Given the description of an element on the screen output the (x, y) to click on. 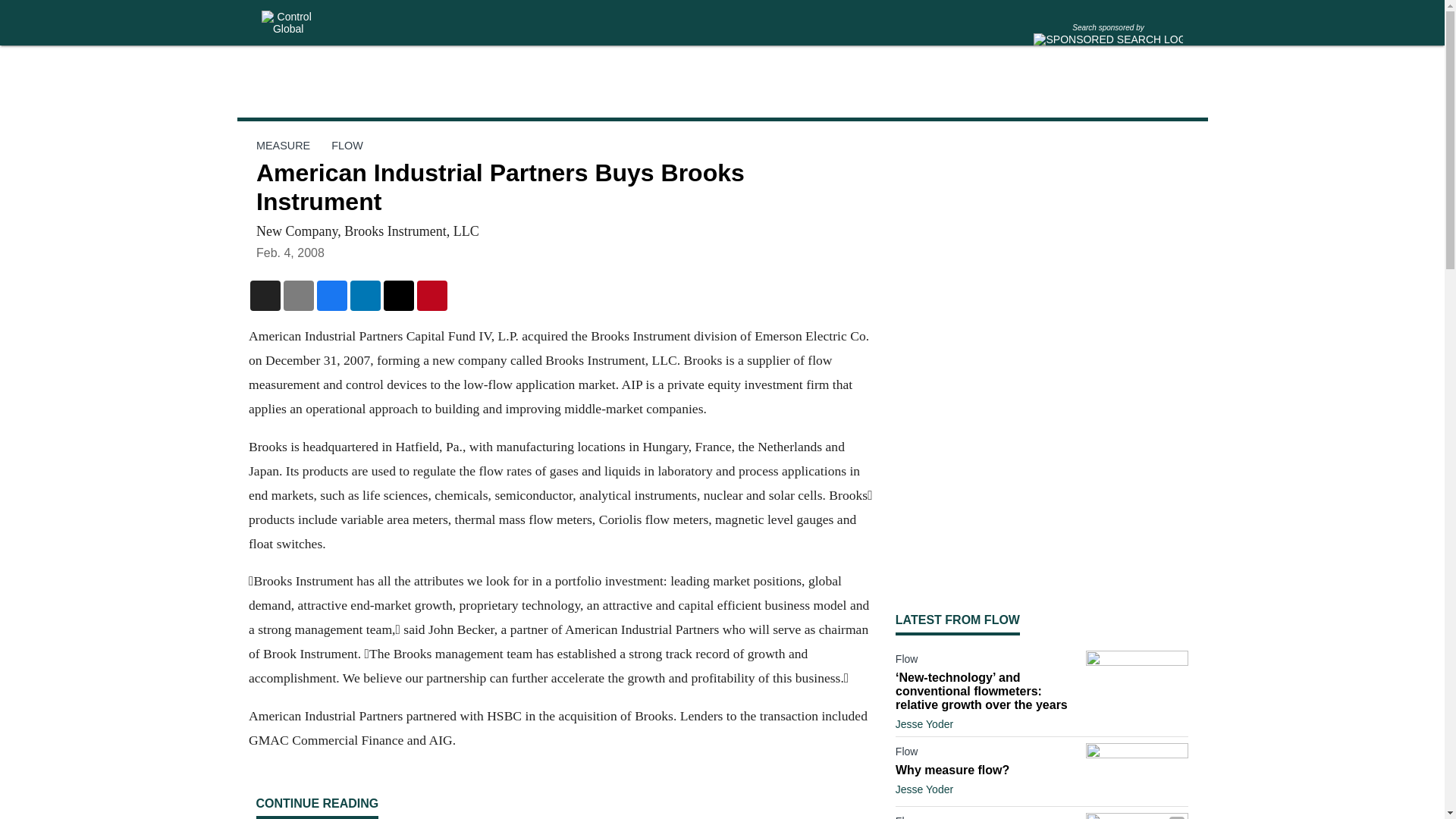
Flow (986, 816)
Jesse Yoder (924, 788)
Why measure flow? (986, 770)
Flow (986, 661)
FLOW (346, 145)
Flow (986, 754)
Jesse Yoder (924, 724)
MEASURE (283, 145)
